Given the description of an element on the screen output the (x, y) to click on. 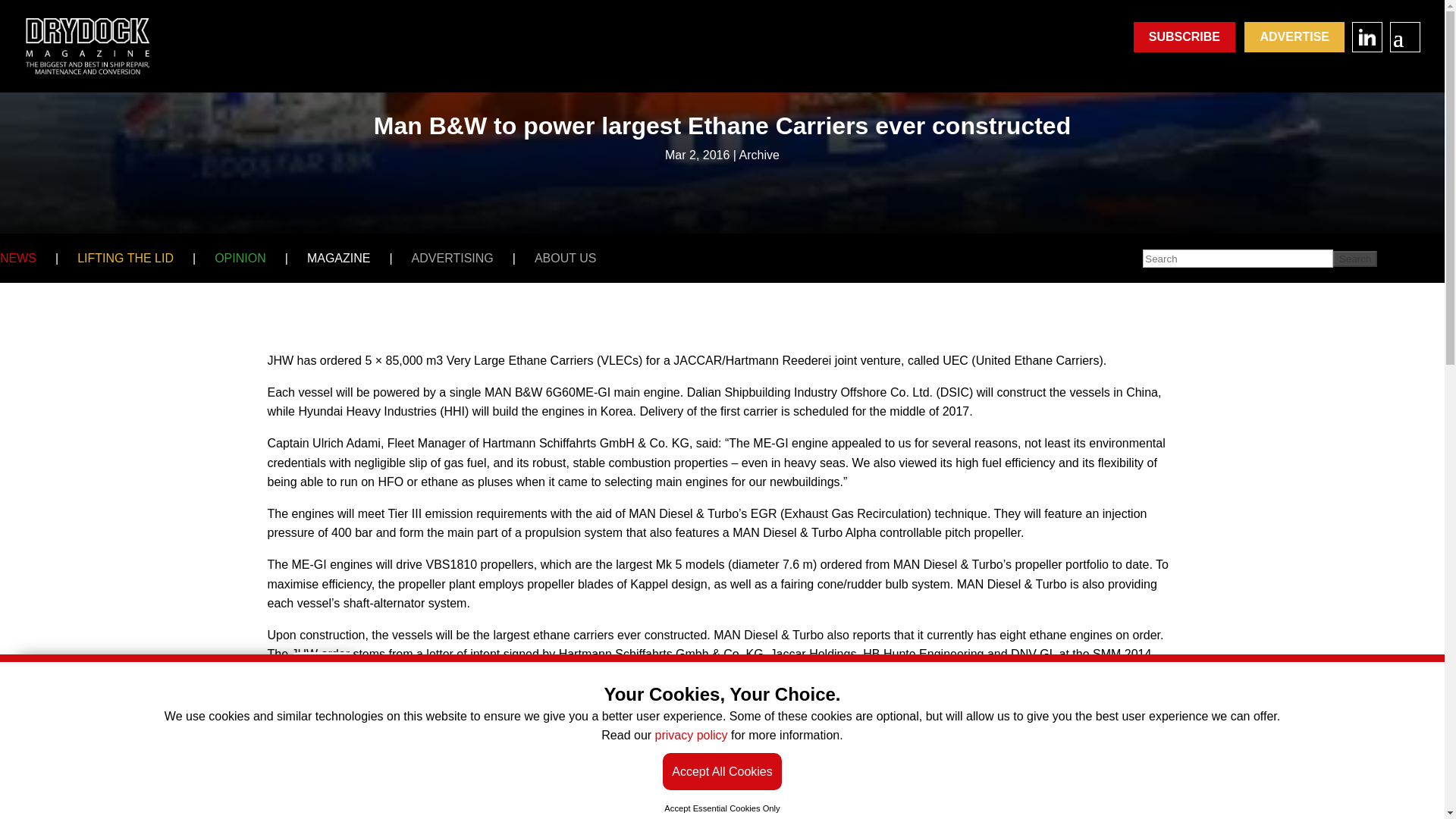
ADVERTISE (1293, 37)
privacy policy (691, 735)
MAGAZINE (339, 257)
Search (1355, 258)
Search (1355, 258)
NEWS (18, 257)
SUBSCRIBE (1184, 37)
ABOUT US (565, 257)
ADVERTISING (452, 257)
LIFTING THE LID (125, 257)
Search (1355, 258)
OPINION (240, 257)
Read Now (292, 772)
